Given the description of an element on the screen output the (x, y) to click on. 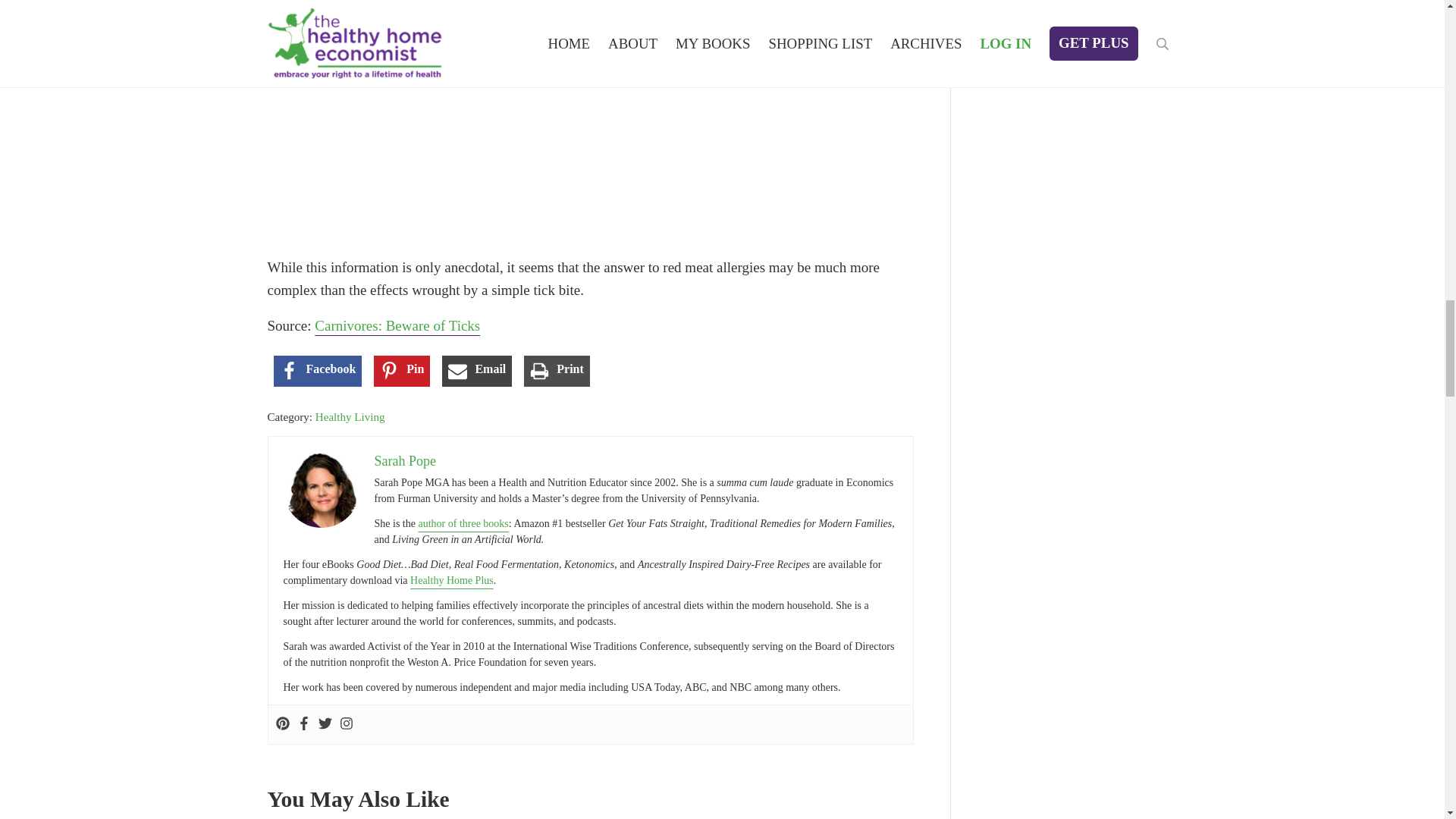
Share via Email (477, 370)
Share on Pinterest (401, 370)
Share on Facebook (317, 370)
Print this Page (556, 370)
Email (477, 370)
